Given the description of an element on the screen output the (x, y) to click on. 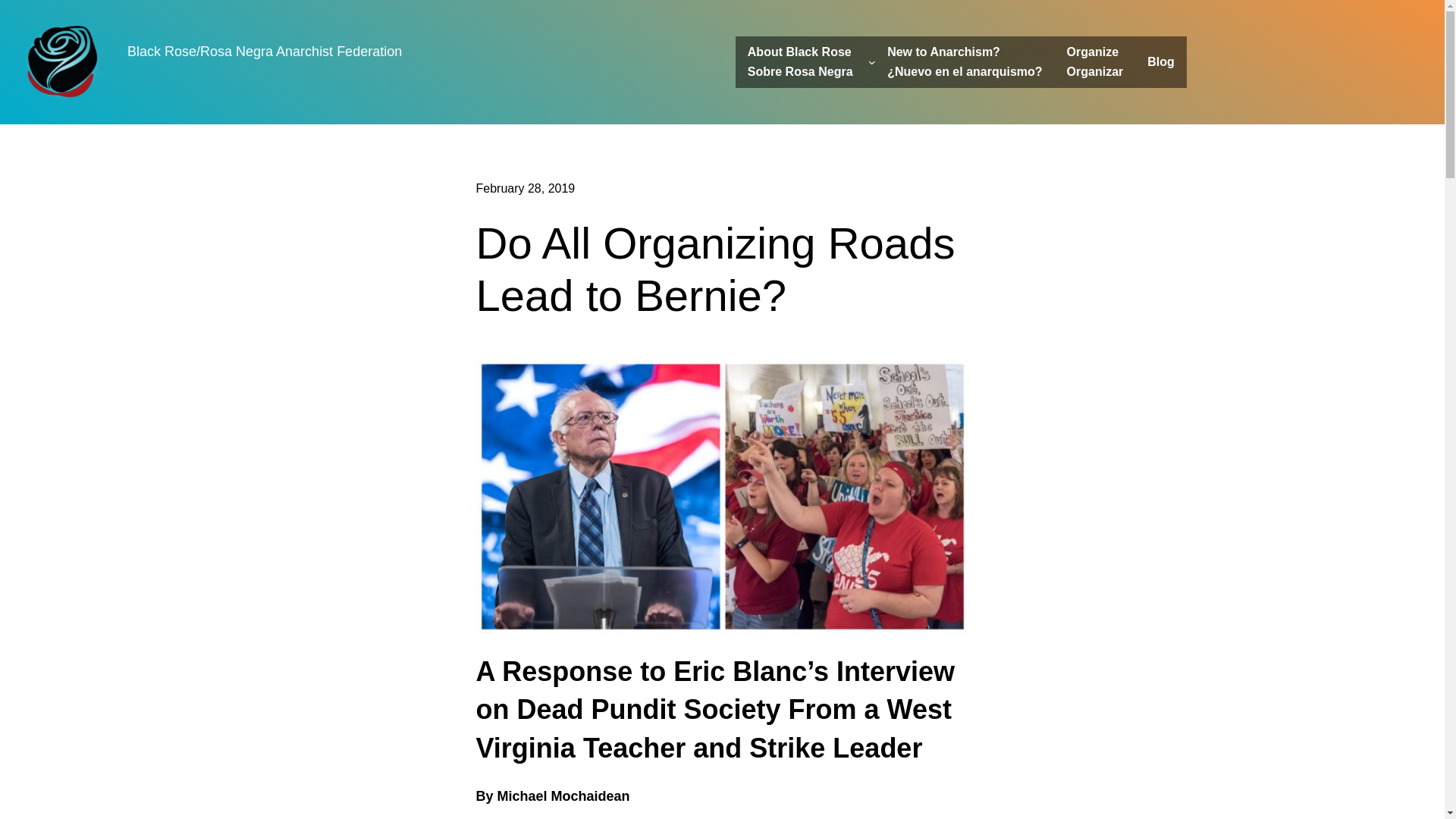
Blog (1094, 61)
